Given the description of an element on the screen output the (x, y) to click on. 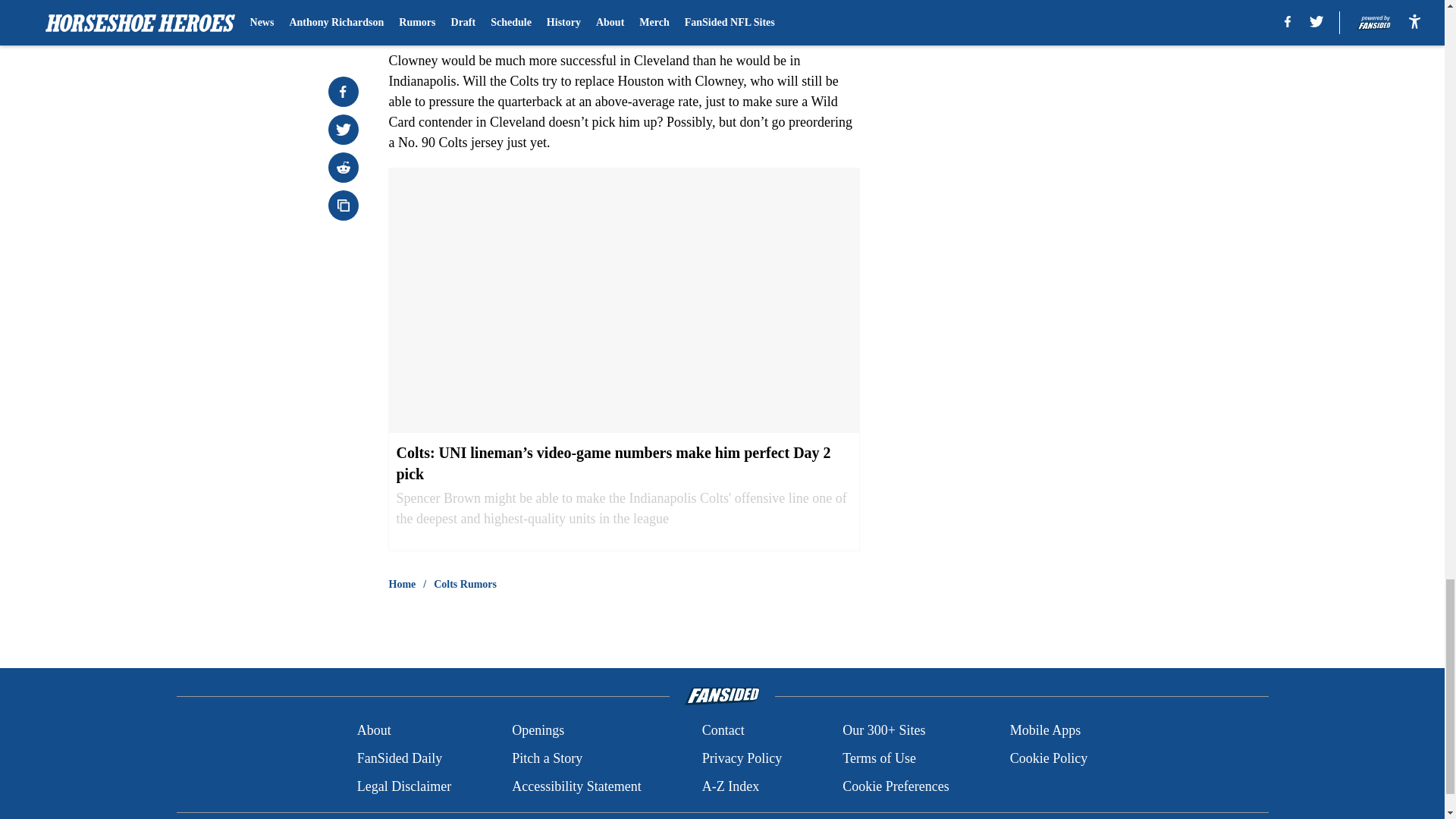
Terms of Use (879, 758)
Colts Rumors (464, 584)
Pitch a Story (547, 758)
Home (401, 584)
FanSided Daily (399, 758)
About (373, 730)
Mobile Apps (1045, 730)
Privacy Policy (742, 758)
Openings (538, 730)
Contact (722, 730)
